Given the description of an element on the screen output the (x, y) to click on. 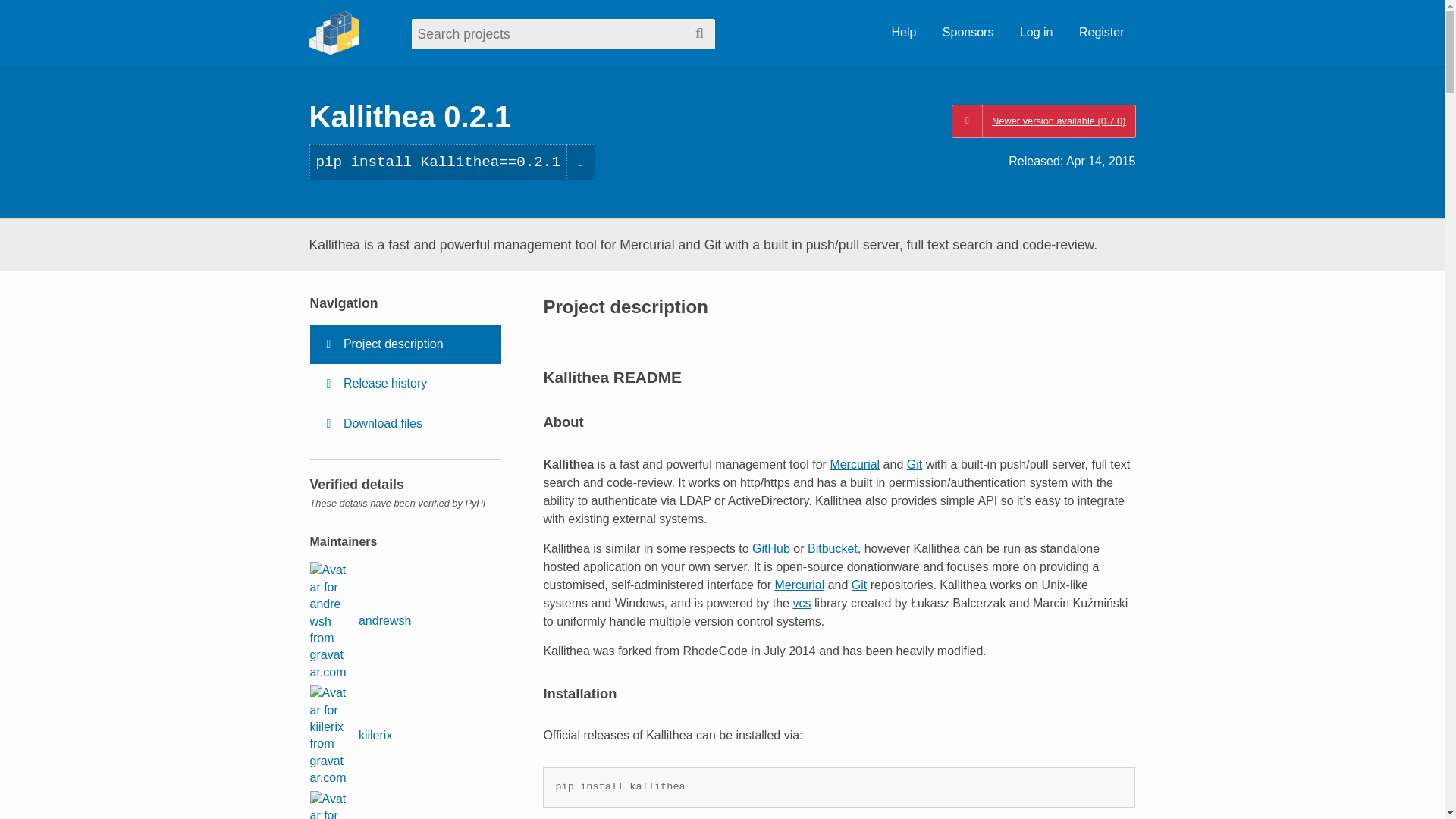
Avatar for patrickdepinguin from gravatar.com (327, 805)
Download files (404, 423)
Mercurial (854, 463)
Search (699, 33)
Release history (404, 383)
Sponsors (968, 32)
Git (914, 463)
Project description (404, 343)
Register (1101, 32)
patrickdepinguin (377, 805)
